Given the description of an element on the screen output the (x, y) to click on. 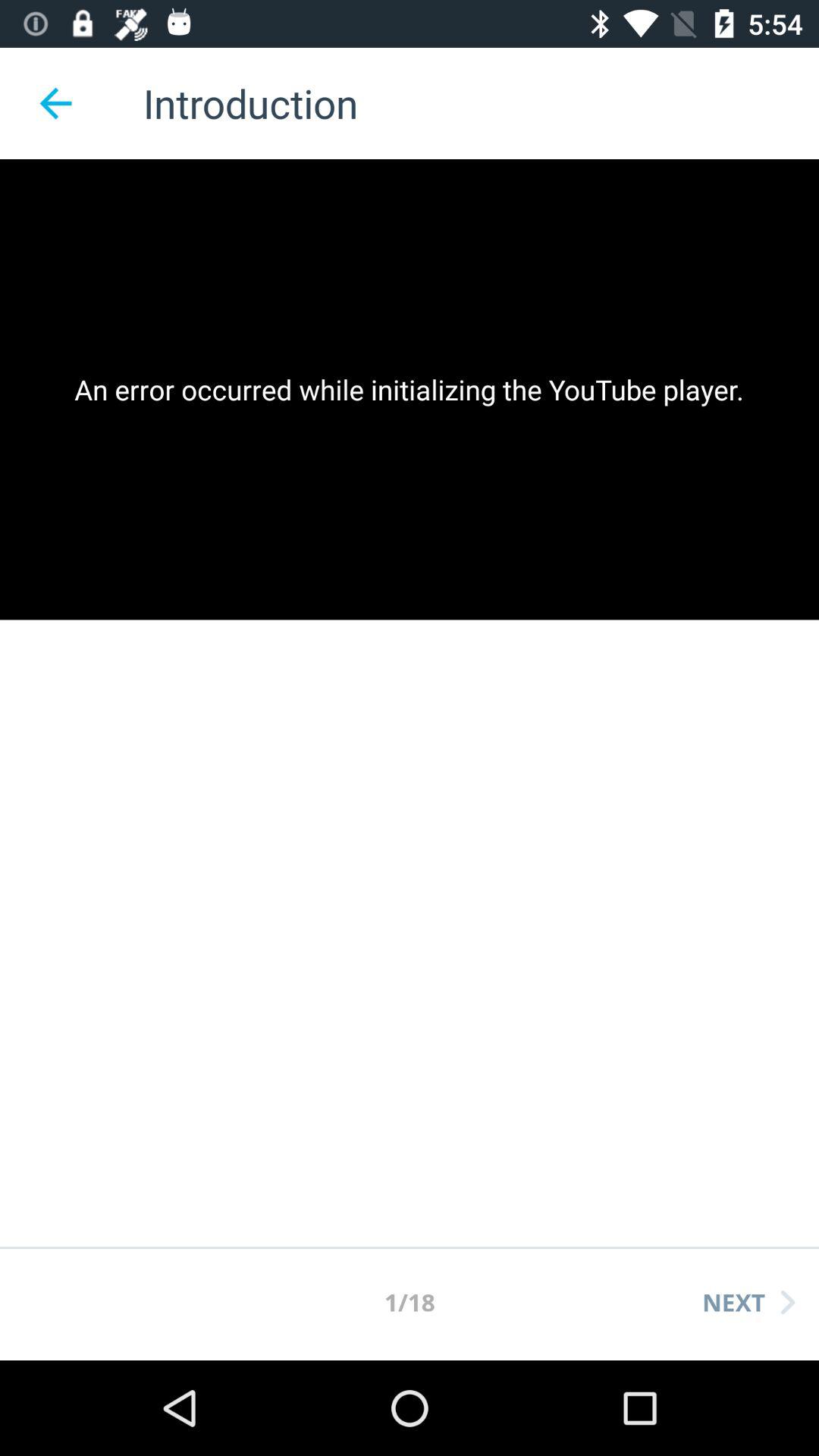
open item to the right of 1/18 (748, 1302)
